Given the description of an element on the screen output the (x, y) to click on. 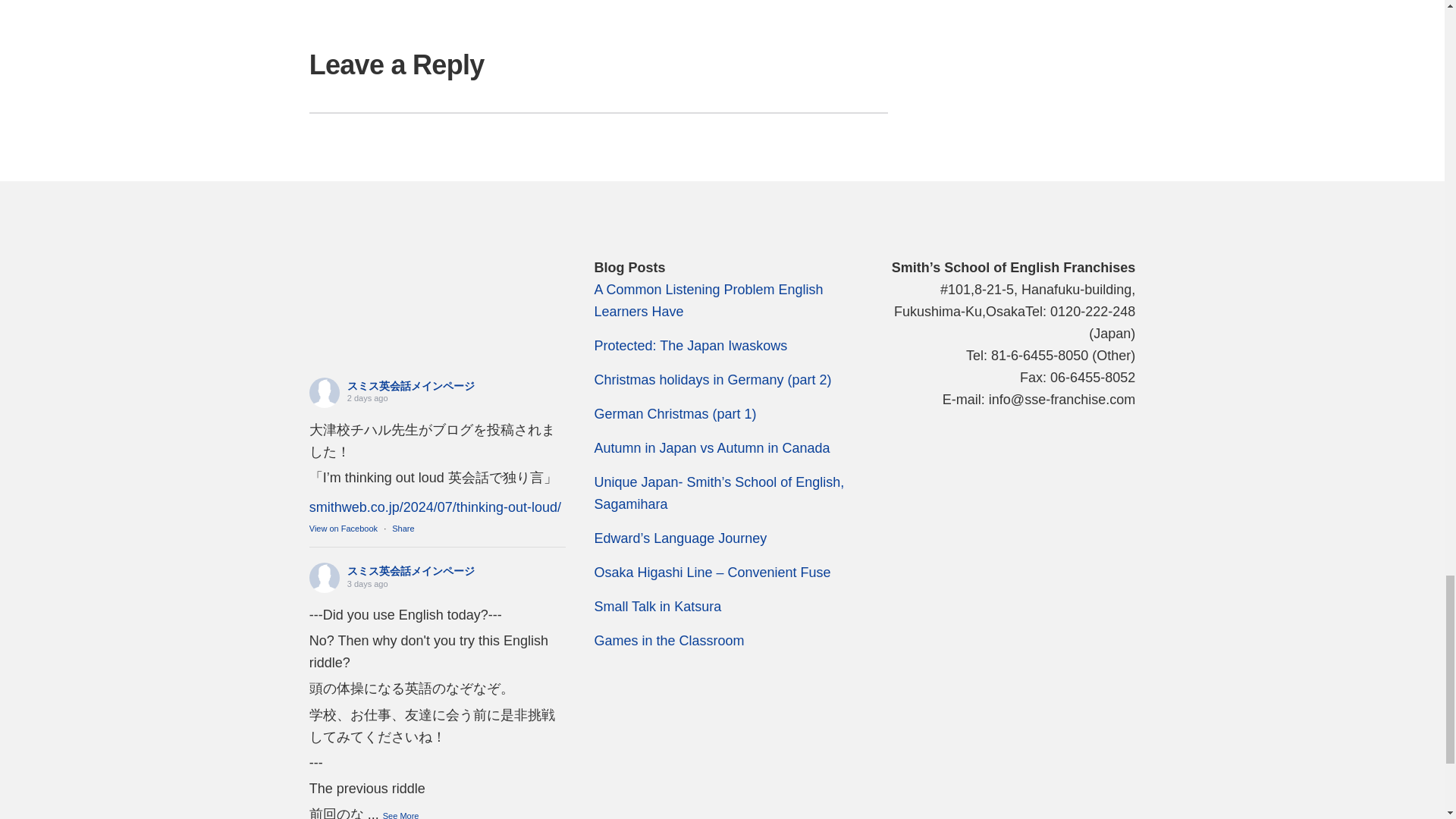
Share (402, 528)
Likebox Iframe (437, 314)
View on Facebook (342, 528)
